Given the description of an element on the screen output the (x, y) to click on. 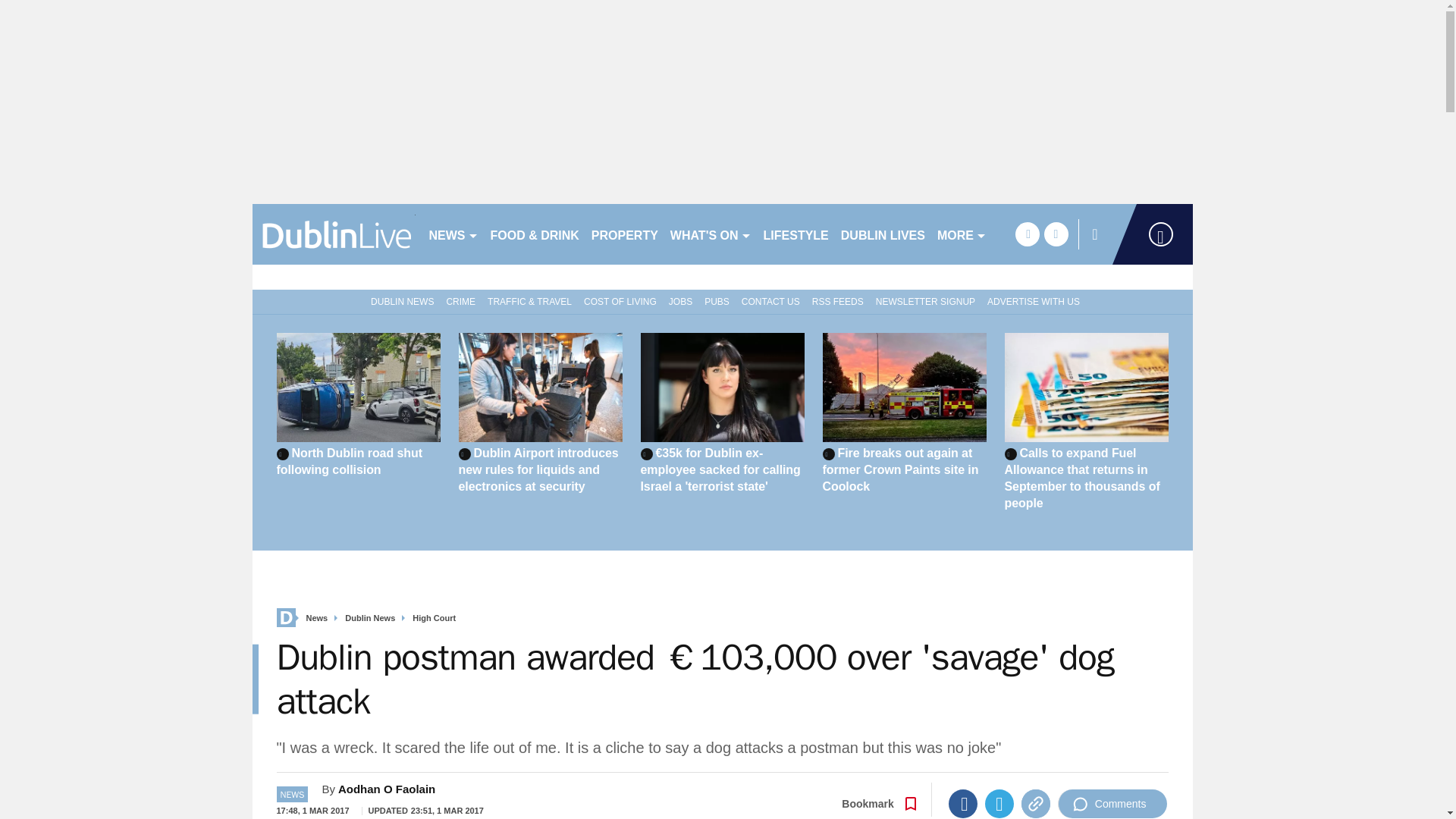
facebook (1026, 233)
Facebook (962, 803)
DUBLIN LIVES (882, 233)
LIFESTYLE (795, 233)
Twitter (999, 803)
PROPERTY (624, 233)
WHAT'S ON (710, 233)
MORE (961, 233)
dublinlive (332, 233)
twitter (1055, 233)
Comments (1112, 803)
NEWS (453, 233)
